Given the description of an element on the screen output the (x, y) to click on. 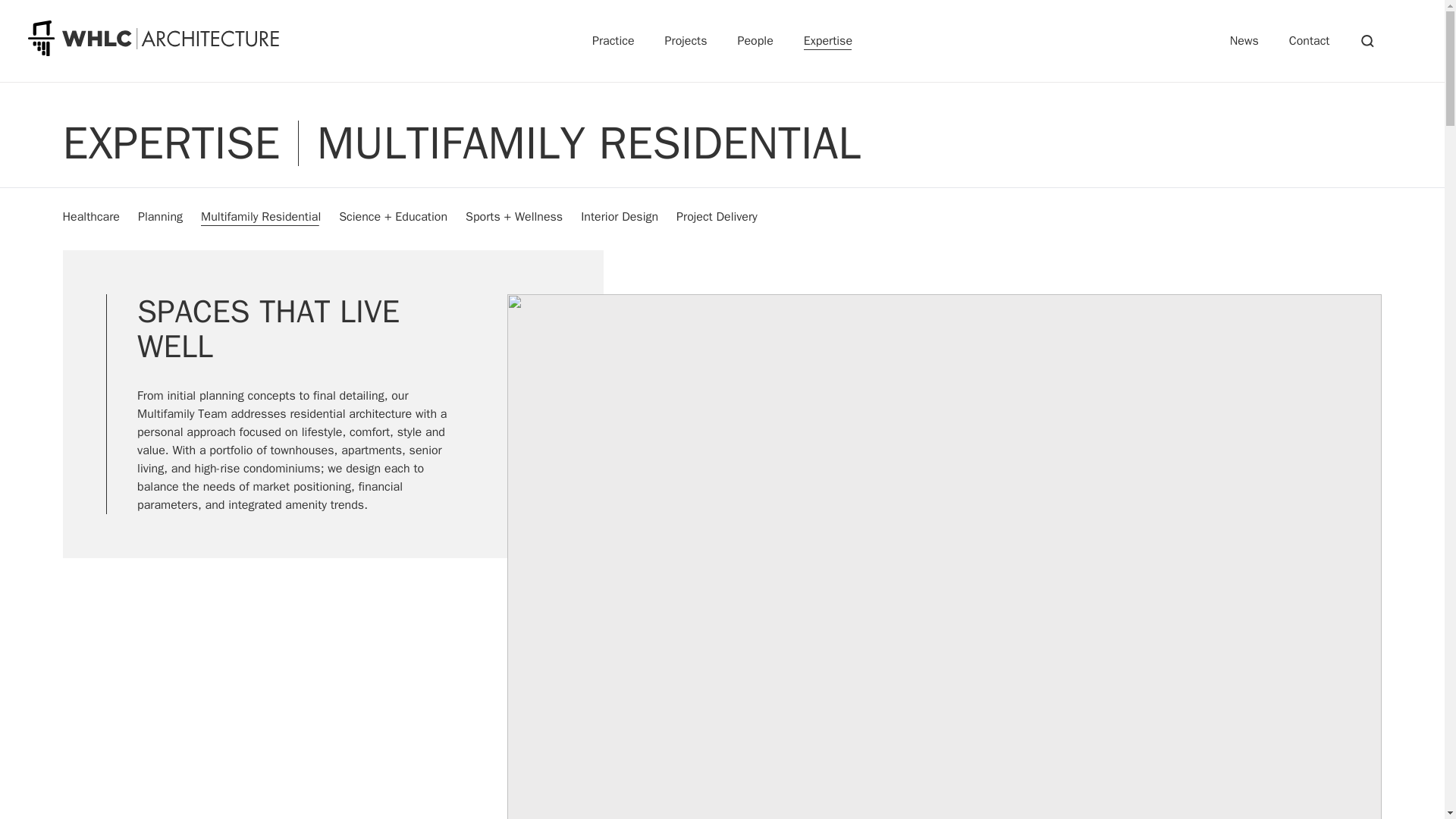
Contact (1309, 40)
Interior Design (619, 217)
Project Delivery (717, 217)
News (1244, 40)
Healthcare (90, 217)
Go to homepage (153, 38)
Projects (686, 40)
People (754, 40)
Expertise (827, 40)
Practice (613, 40)
Planning (160, 217)
Multifamily Residential (260, 217)
